Given the description of an element on the screen output the (x, y) to click on. 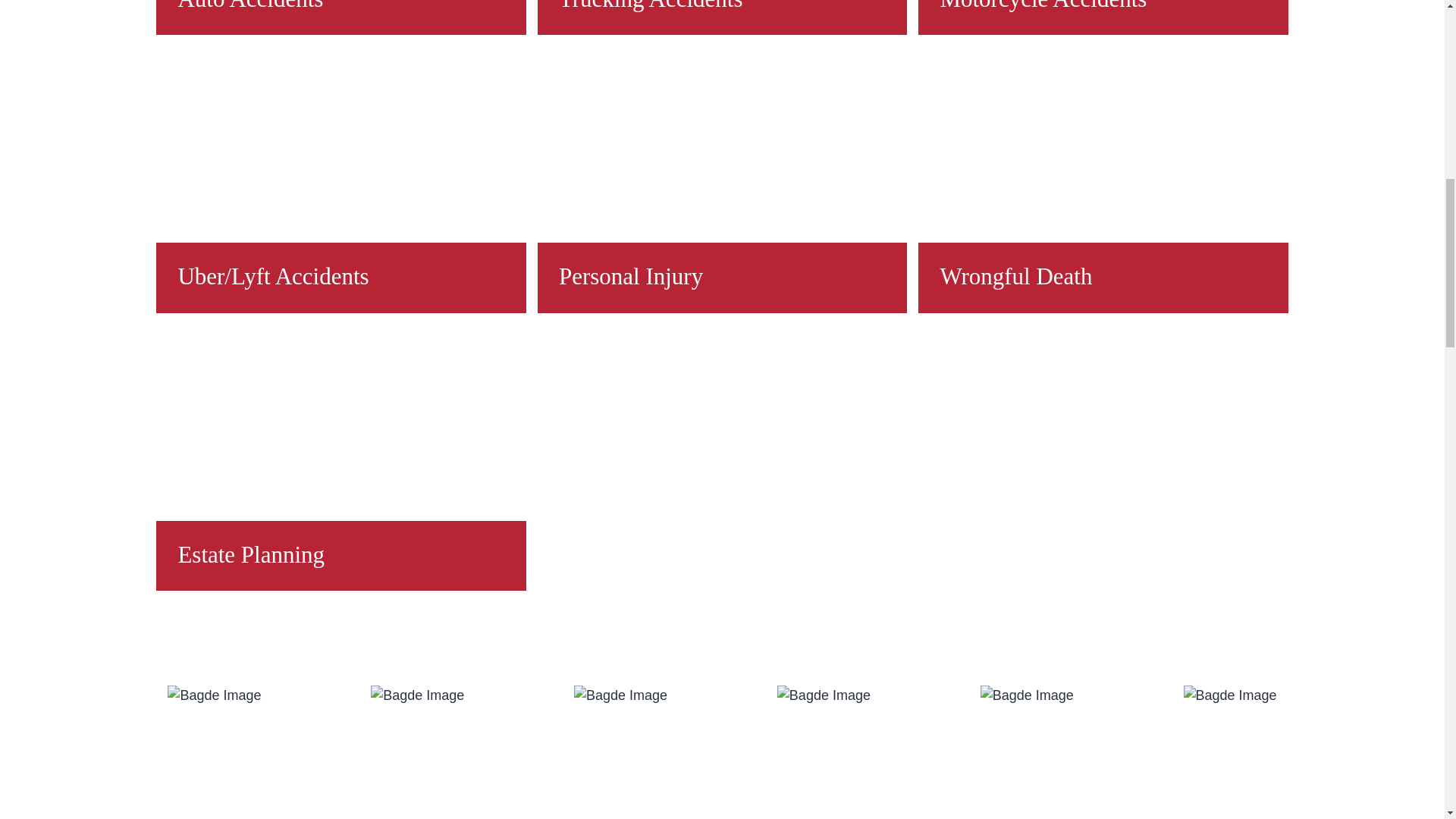
Auto Accidents (340, 17)
Motorcycle Accidents (1102, 17)
Wrongful Death (1102, 178)
Trucking Accidents (722, 17)
Estate Planning (340, 456)
Personal Injury (722, 178)
